Given the description of an element on the screen output the (x, y) to click on. 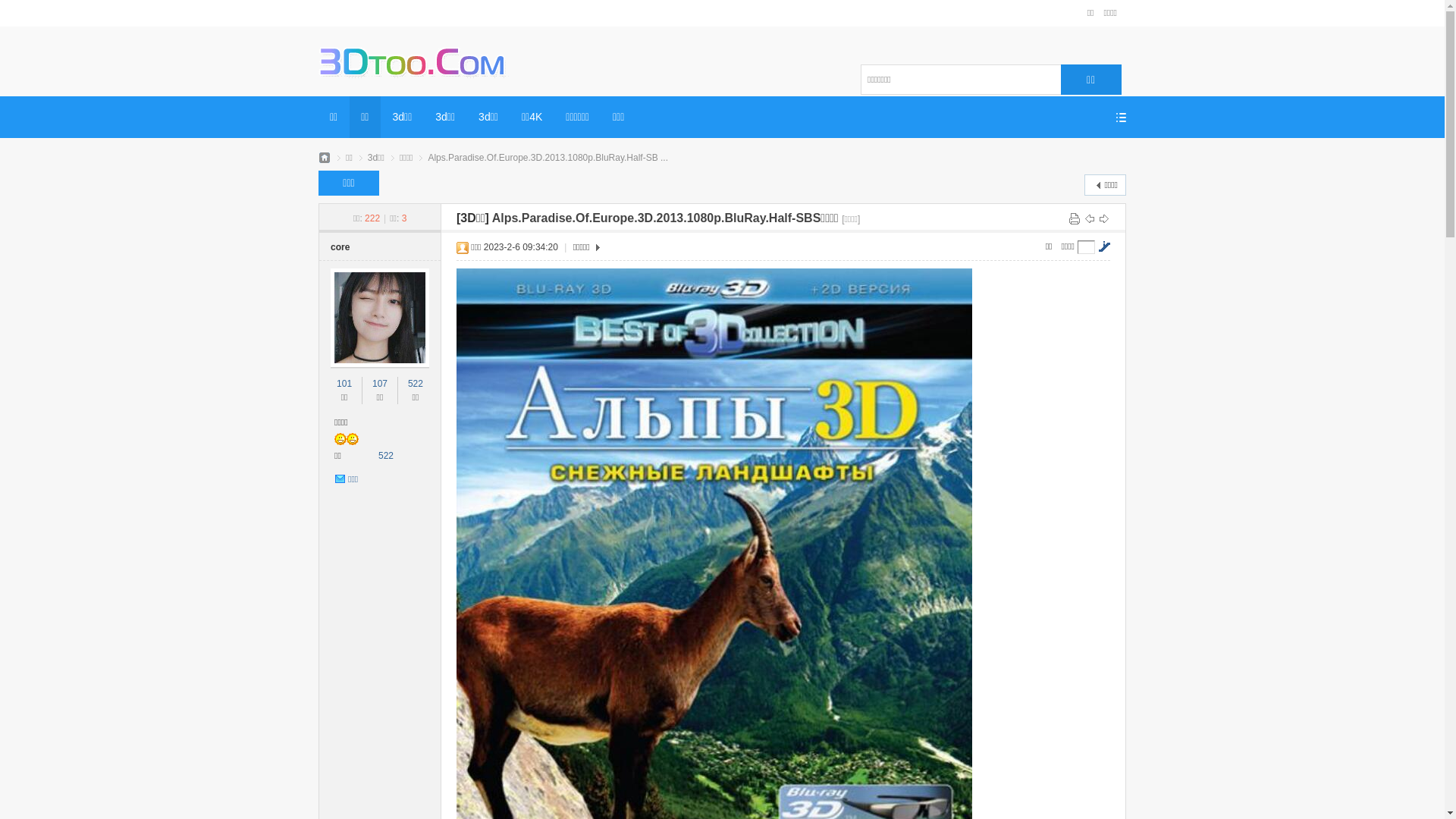
101 Element type: text (343, 383)
522 Element type: text (415, 383)
core Element type: text (339, 246)
107 Element type: text (379, 383)
Alps.Paradise.Of.Europe.3D.2013.1080p.BluRay.Half-SB ... Element type: text (547, 158)
522 Element type: text (385, 455)
